Given the description of an element on the screen output the (x, y) to click on. 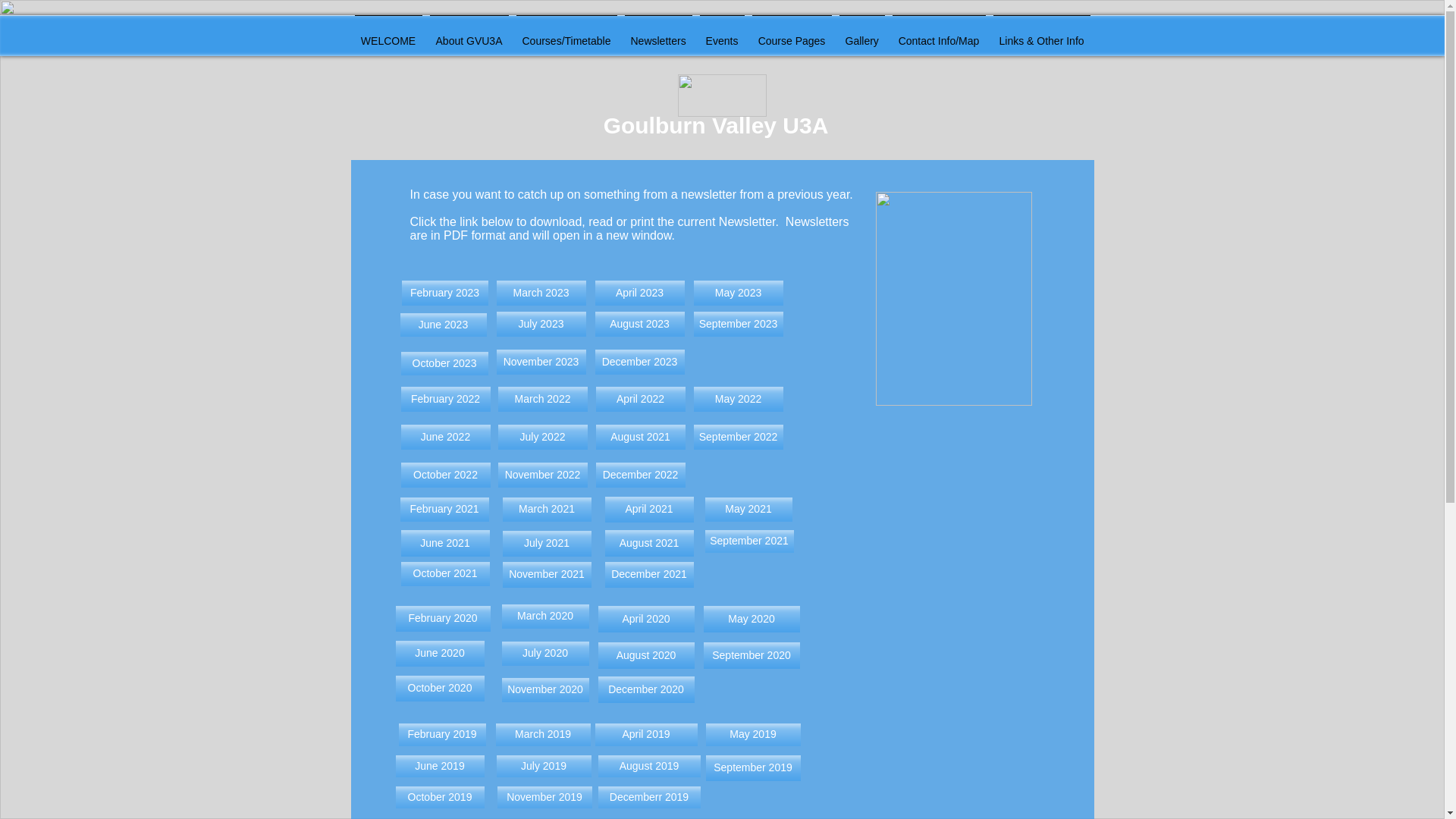
December 2023 (639, 361)
November 2023 (540, 361)
July 2023 (540, 324)
February 2023 (444, 292)
May 2023 (738, 292)
March 2022 (541, 398)
February 2022 (444, 398)
WELCOME (387, 34)
June 2023 (443, 324)
April 2022 (640, 398)
